Given the description of an element on the screen output the (x, y) to click on. 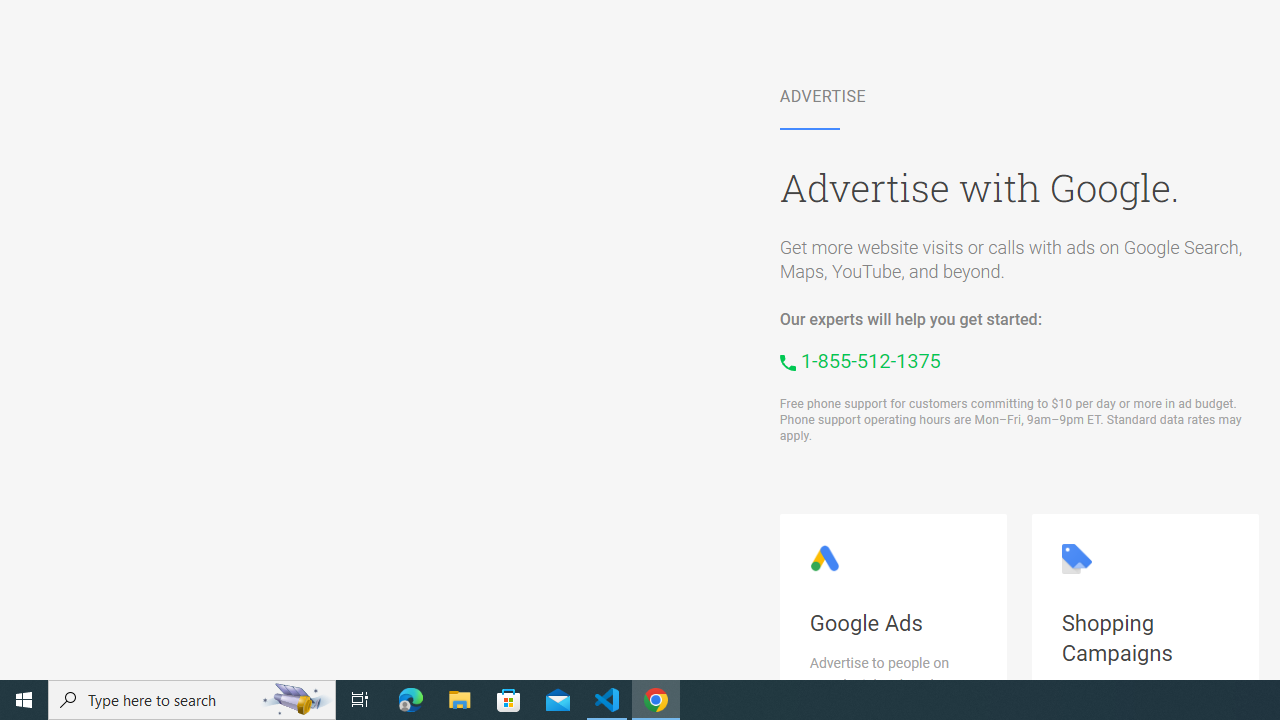
Google Shopping logo (1076, 558)
Google Ads logo (823, 558)
Call us (859, 360)
